Given the description of an element on the screen output the (x, y) to click on. 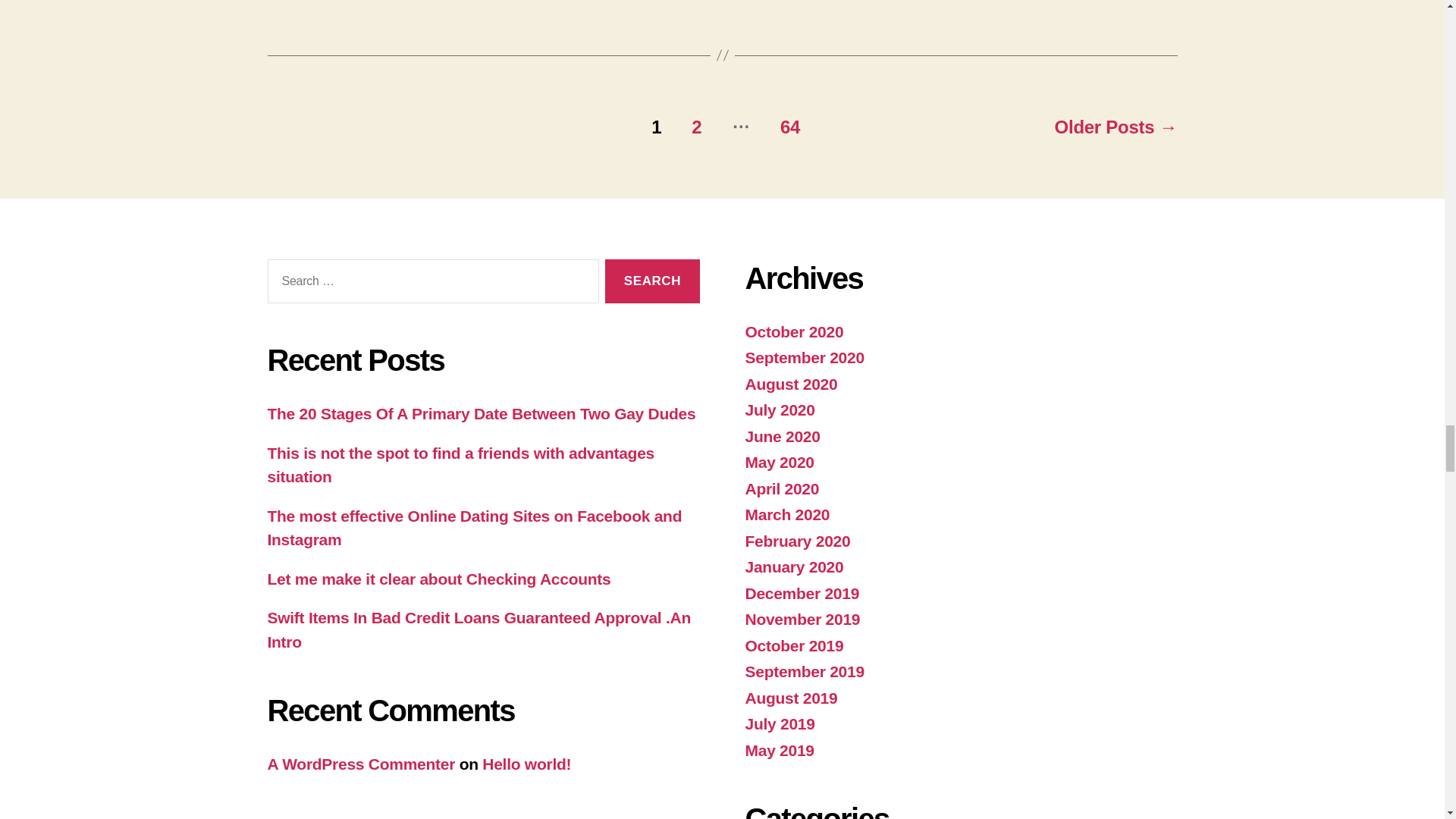
Search (651, 281)
Search (651, 281)
